Given the description of an element on the screen output the (x, y) to click on. 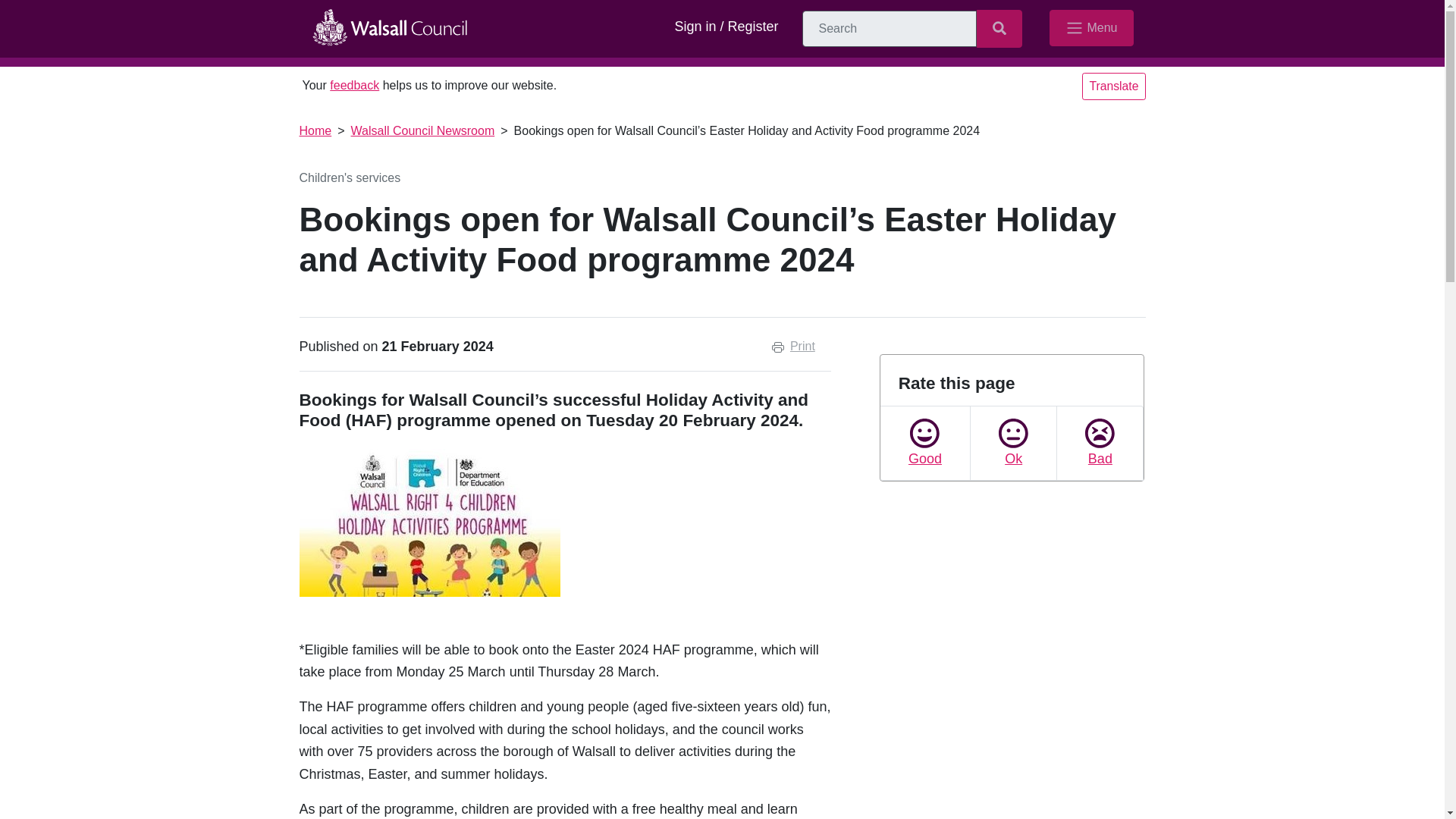
Translate (1112, 85)
feedback (354, 84)
Print (793, 346)
Menu (1090, 27)
Home (314, 130)
Walsall Council Newsroom (422, 130)
Search (999, 28)
